Given the description of an element on the screen output the (x, y) to click on. 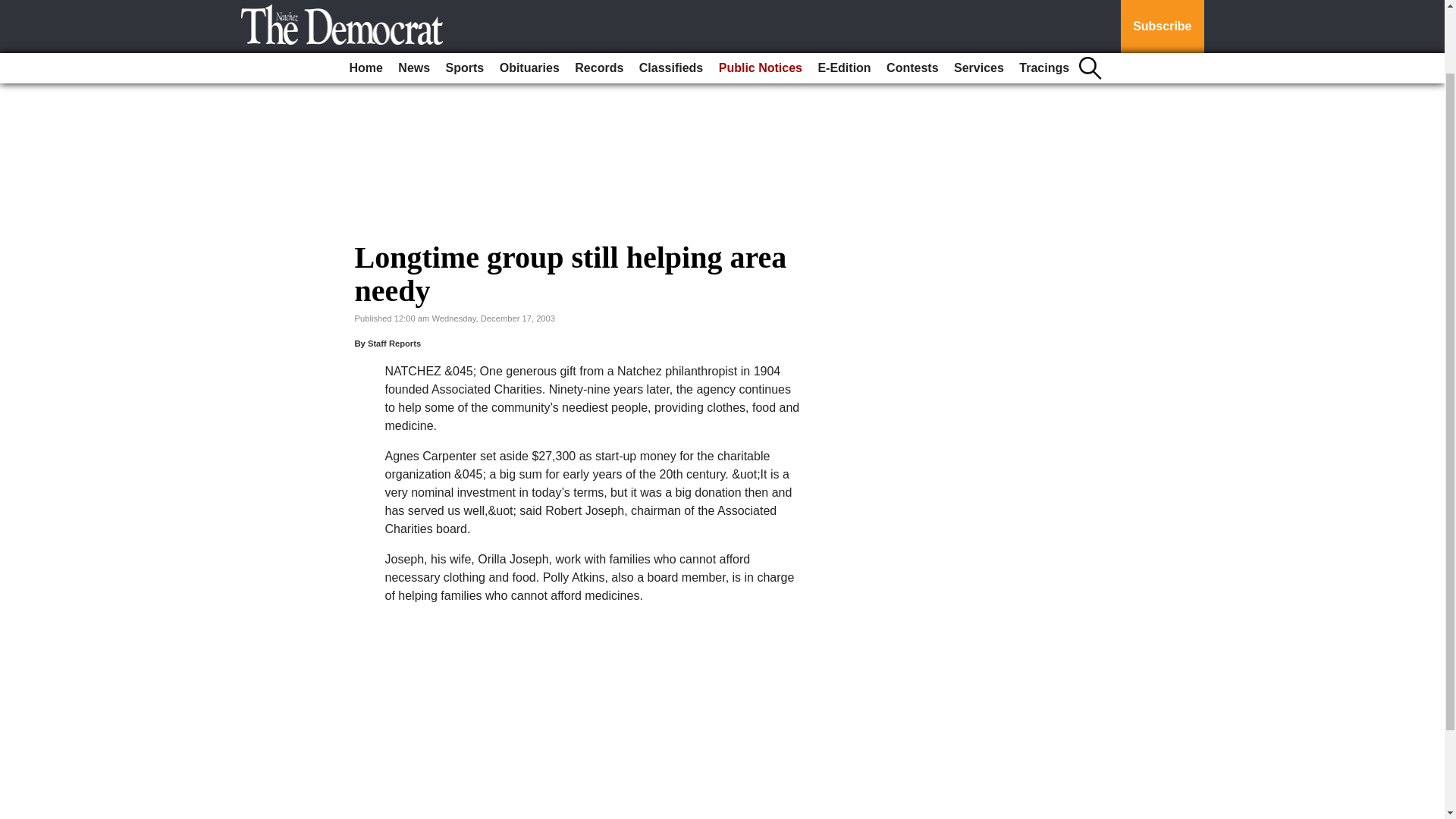
Classifieds (671, 2)
Home (365, 2)
Public Notices (760, 2)
Records (598, 2)
Obituaries (529, 2)
Services (978, 2)
E-Edition (843, 2)
Staff Reports (394, 343)
Tracings (1044, 2)
News (413, 2)
